Given the description of an element on the screen output the (x, y) to click on. 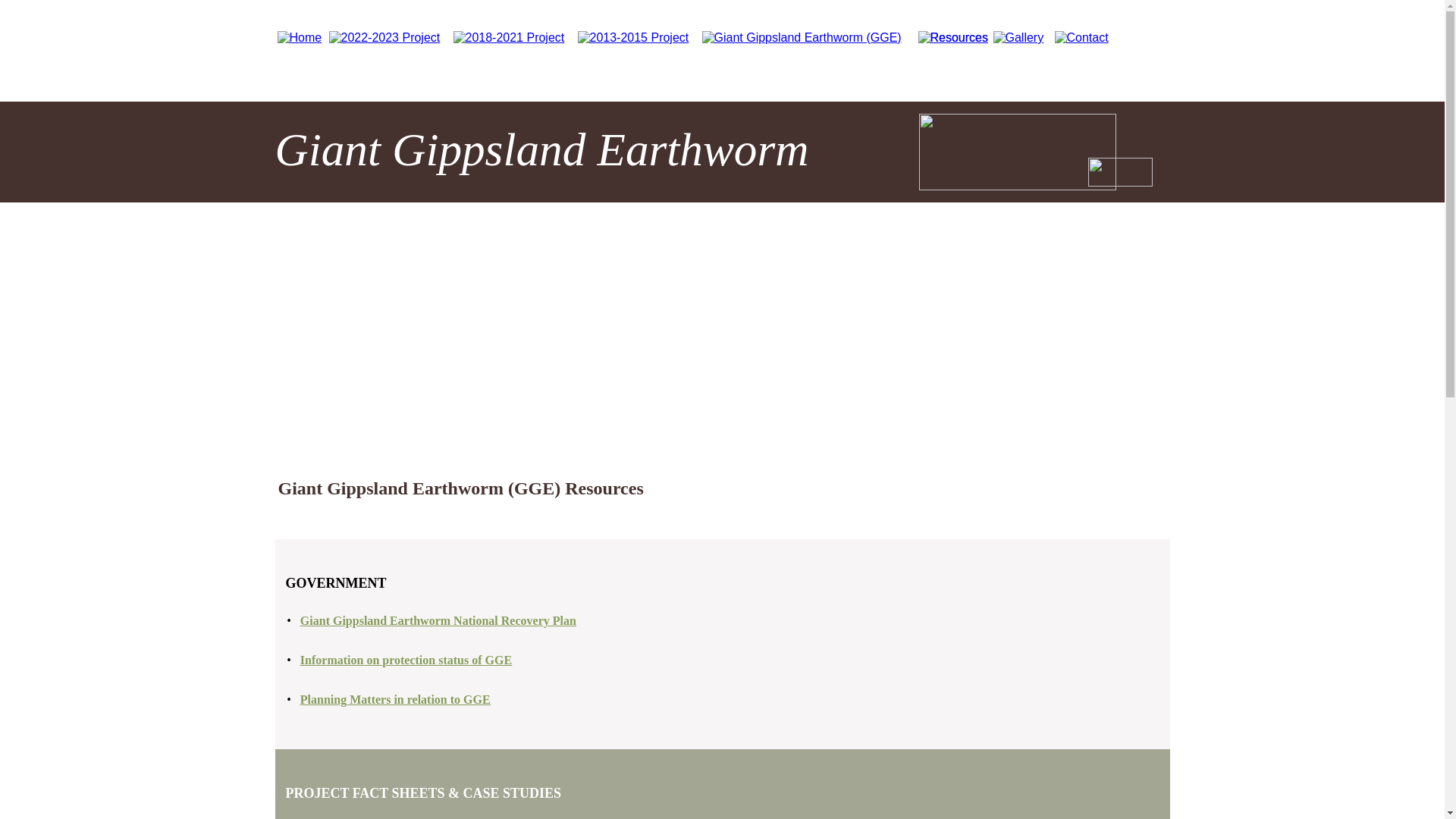
Information on protection status of GGE Element type: text (405, 659)
Giant Gippsland Earthworm National Recovery Plan Element type: text (438, 620)
Planning Matters in relation to GGE Element type: text (395, 699)
